Given the description of an element on the screen output the (x, y) to click on. 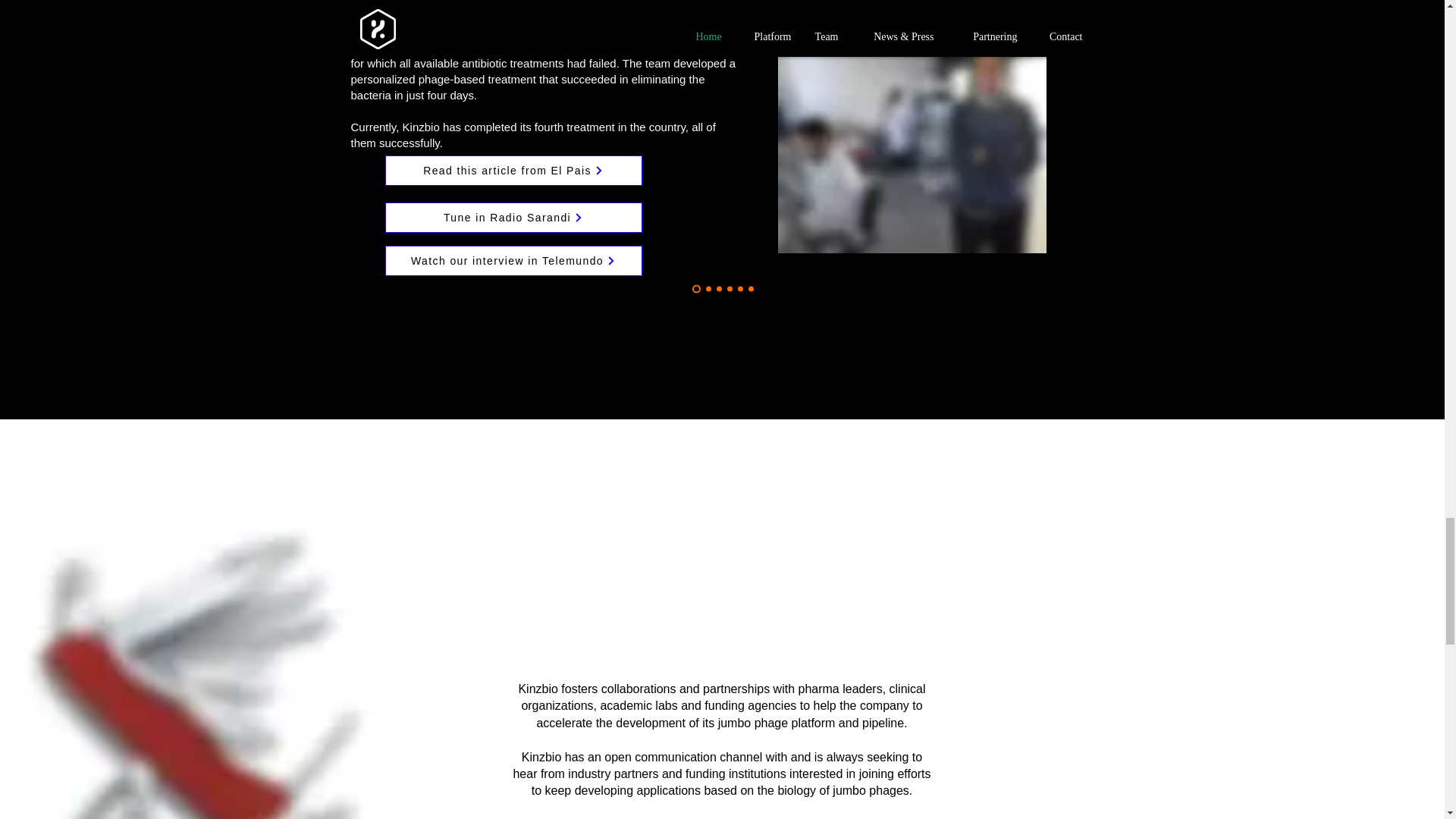
Watch our interview in Telemundo (513, 260)
Tune in Radio Sarandi (513, 217)
Read this article from El Pais (513, 170)
